Given the description of an element on the screen output the (x, y) to click on. 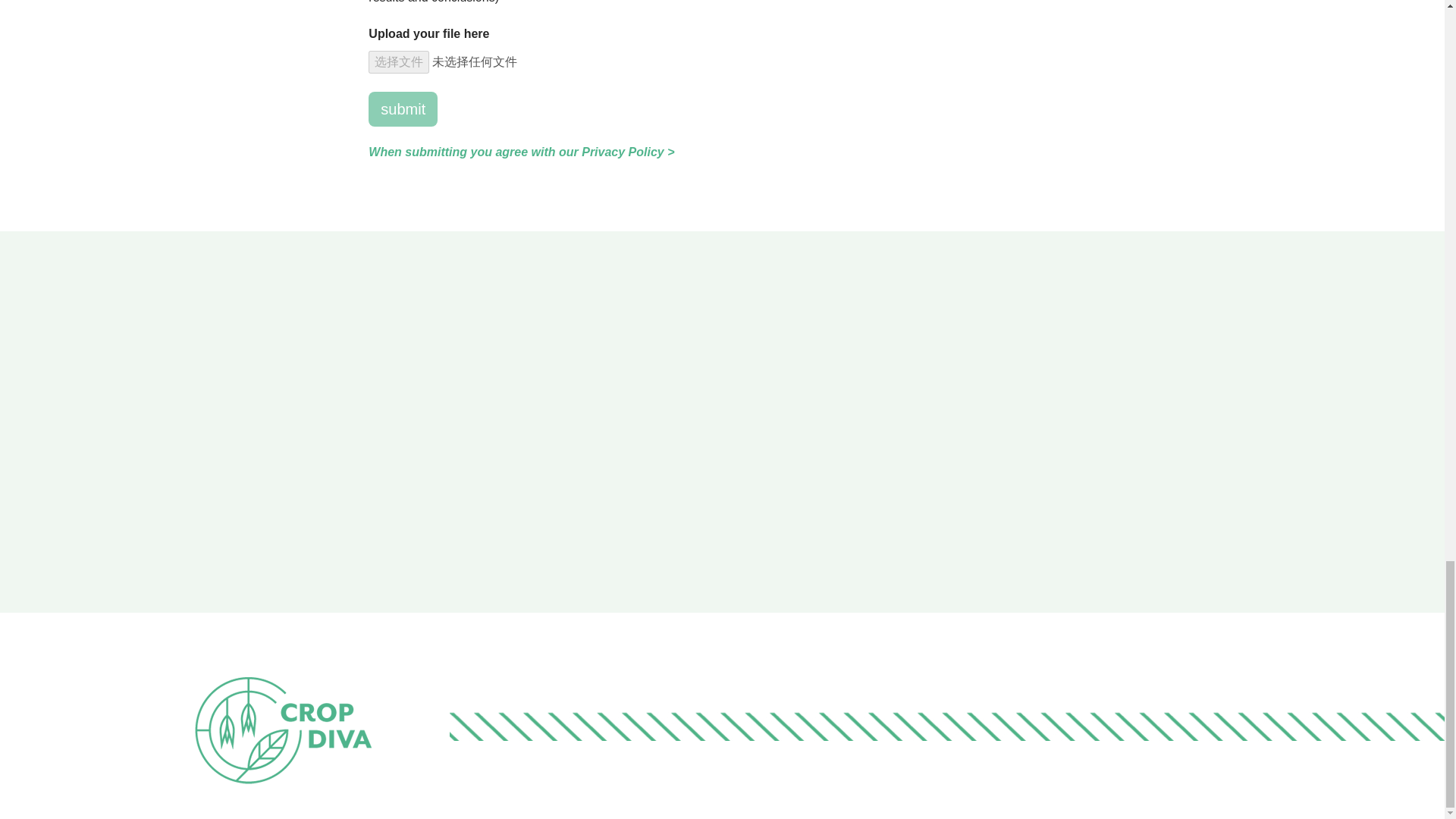
submit (403, 108)
submit (403, 108)
